Given the description of an element on the screen output the (x, y) to click on. 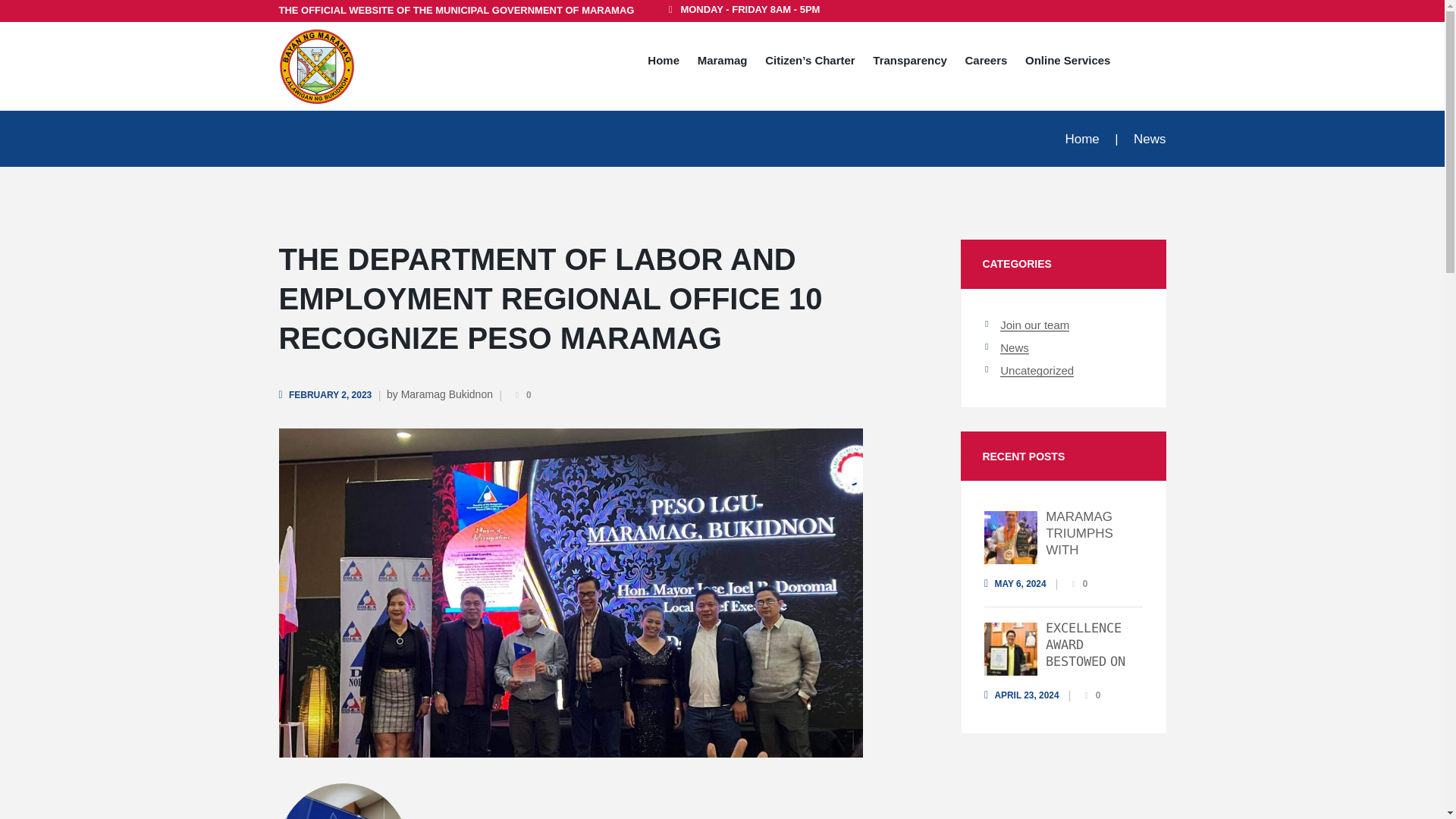
FEBRUARY 2, 2023 (325, 394)
Maramag Bukidnon (447, 394)
Comments - 0 (521, 395)
News (1150, 139)
Maramag (721, 62)
Transparency (910, 62)
0 (521, 395)
Careers (986, 62)
Home (1081, 139)
